Given the description of an element on the screen output the (x, y) to click on. 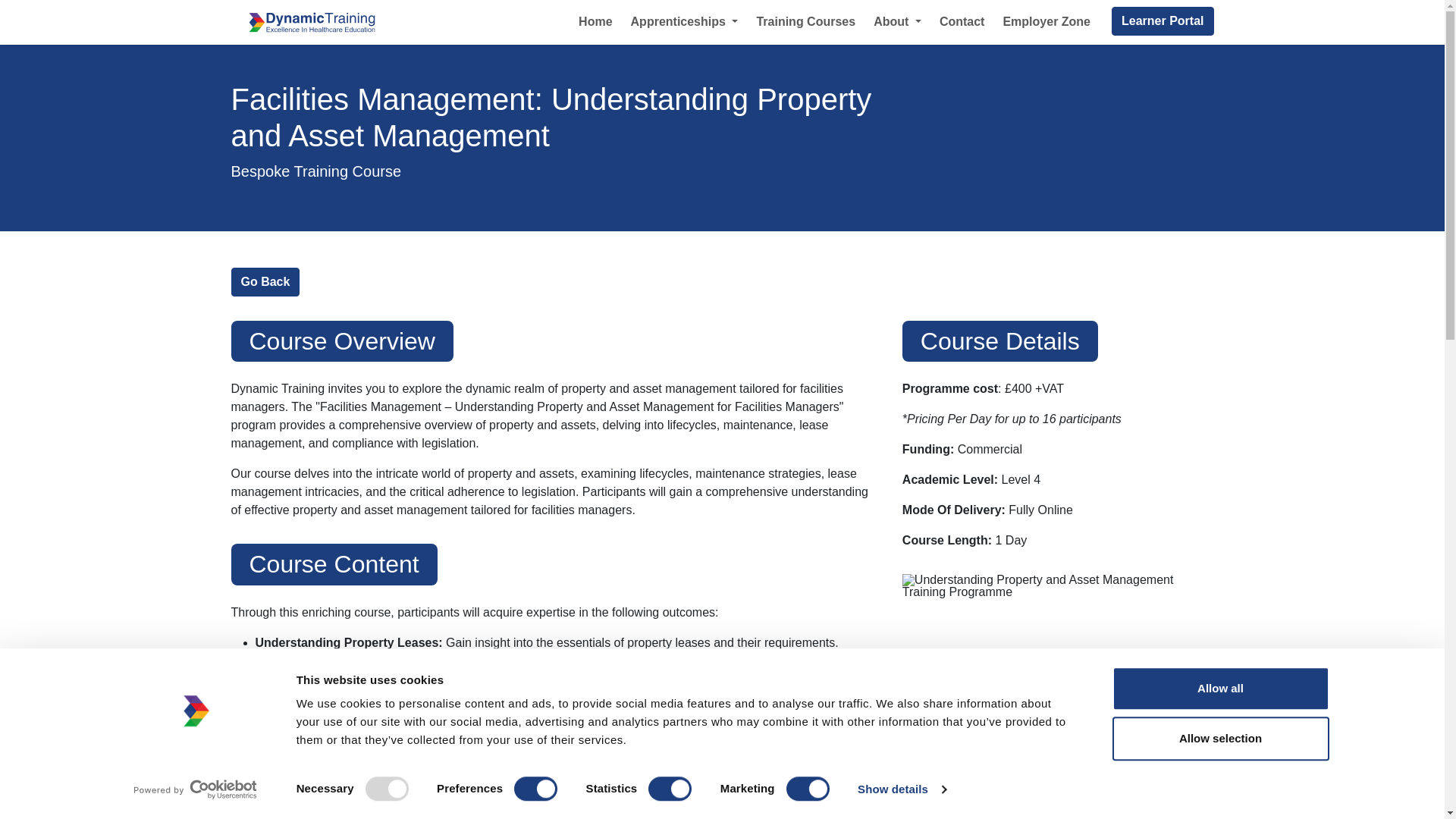
Training Programmes (264, 281)
Show details (900, 789)
